Given the description of an element on the screen output the (x, y) to click on. 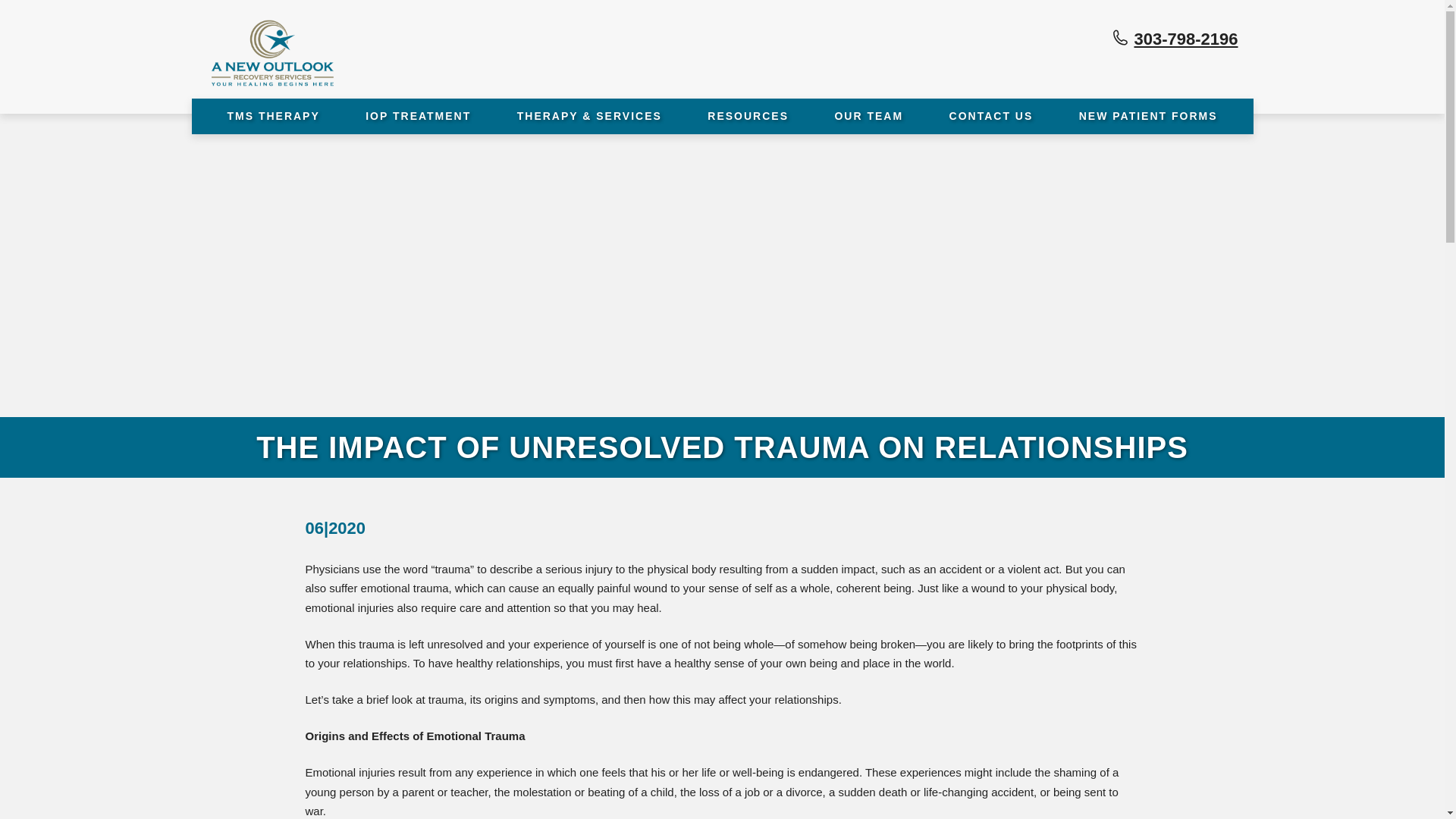
OUR TEAM (869, 116)
NEW PATIENT FORMS (1148, 116)
303-798-2196 (1185, 38)
IOP TREATMENT (418, 116)
RESOURCES (748, 116)
TMS THERAPY (272, 116)
CONTACT US (991, 116)
